Given the description of an element on the screen output the (x, y) to click on. 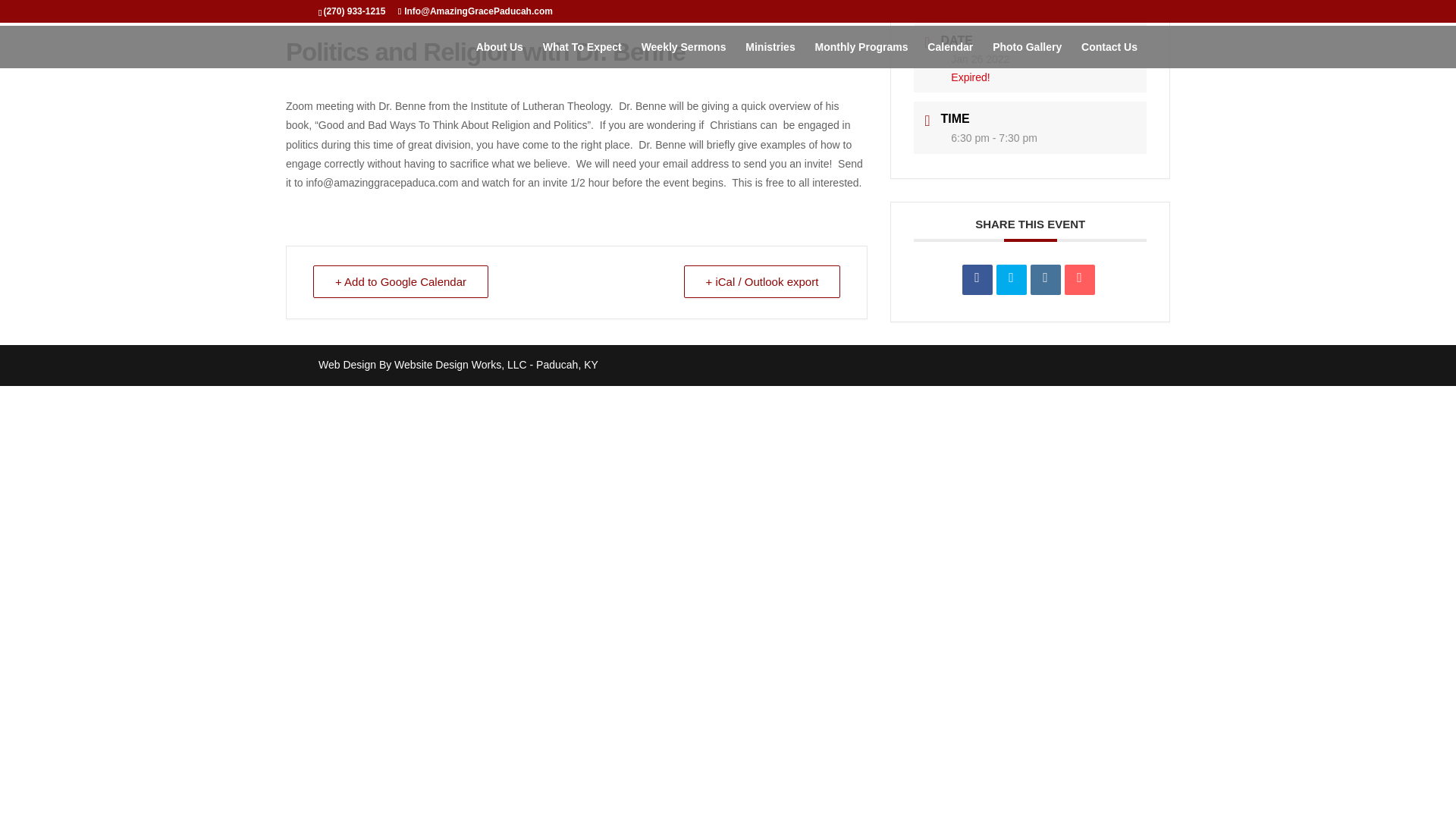
Ministries (769, 54)
Share on Facebook (977, 279)
About Us (499, 54)
What To Expect (582, 54)
Contact Us (1109, 54)
Calendar (949, 54)
Weekly Sermons (684, 54)
Photo Gallery (1026, 54)
Tweet (1010, 279)
Email (1079, 279)
Linkedin (1045, 279)
Monthly Programs (861, 54)
